Given the description of an element on the screen output the (x, y) to click on. 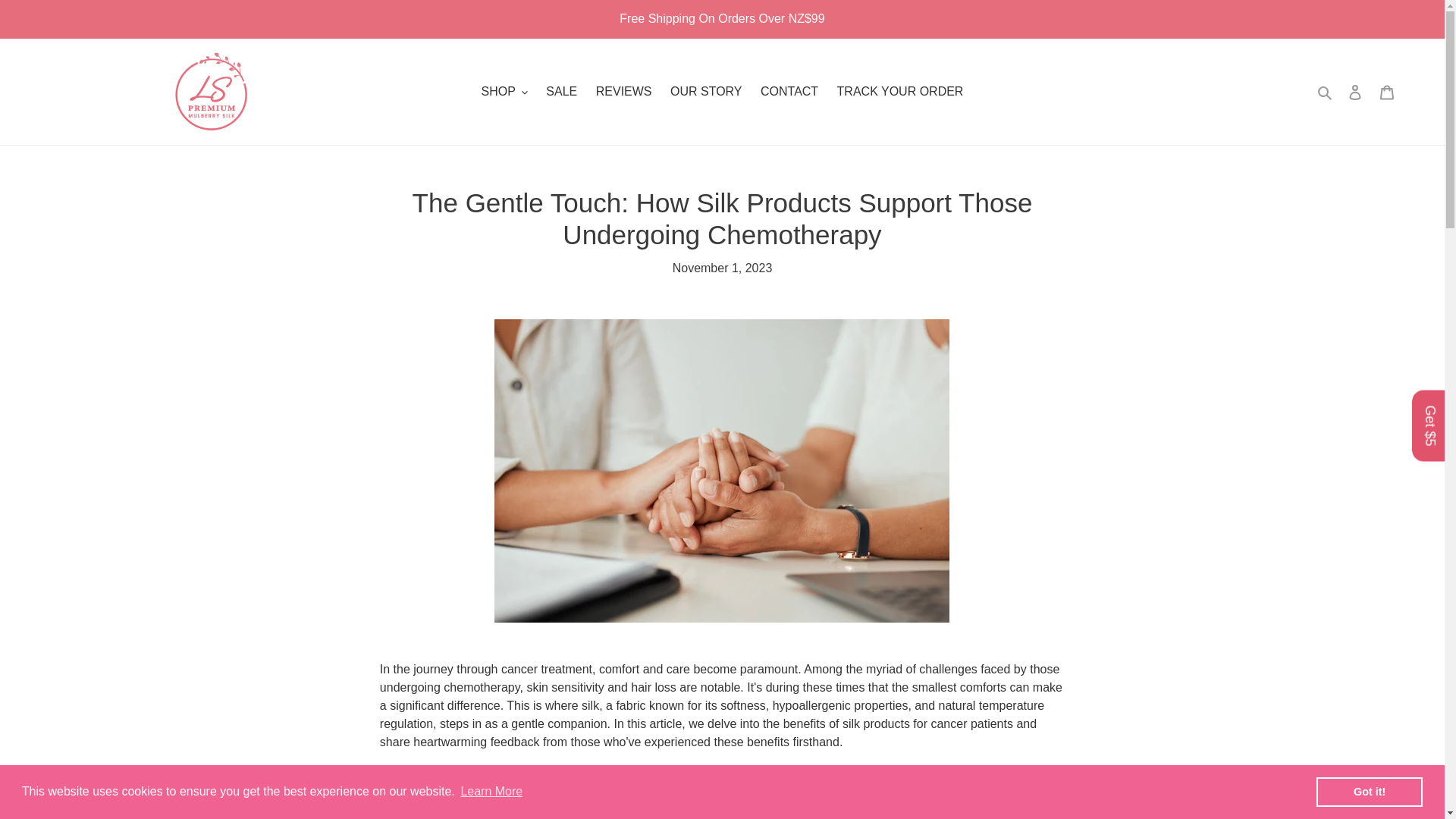
Learn More (491, 791)
Got it! (1369, 791)
SHOP (504, 91)
